Given the description of an element on the screen output the (x, y) to click on. 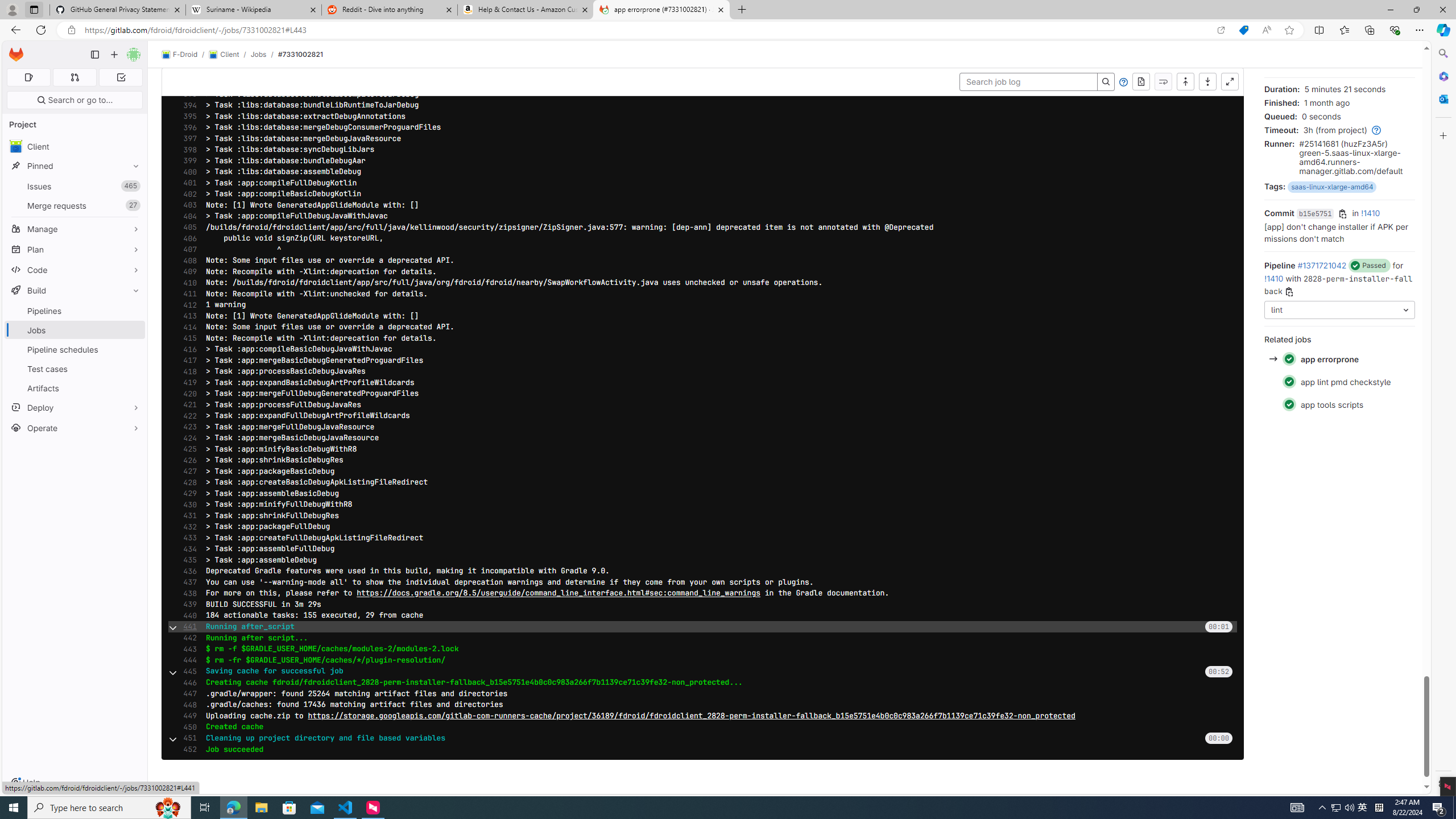
436 (186, 571)
Homepage (16, 54)
Reddit - Dive into anything (390, 9)
Client (74, 145)
443 (186, 648)
399 (186, 160)
Status: Passed app errorprone (1338, 359)
389 (186, 49)
Assigned issues 0 (28, 76)
446 (186, 682)
414 (186, 327)
439 (186, 604)
Class: gl-link (1374, 130)
409 (186, 271)
